Given the description of an element on the screen output the (x, y) to click on. 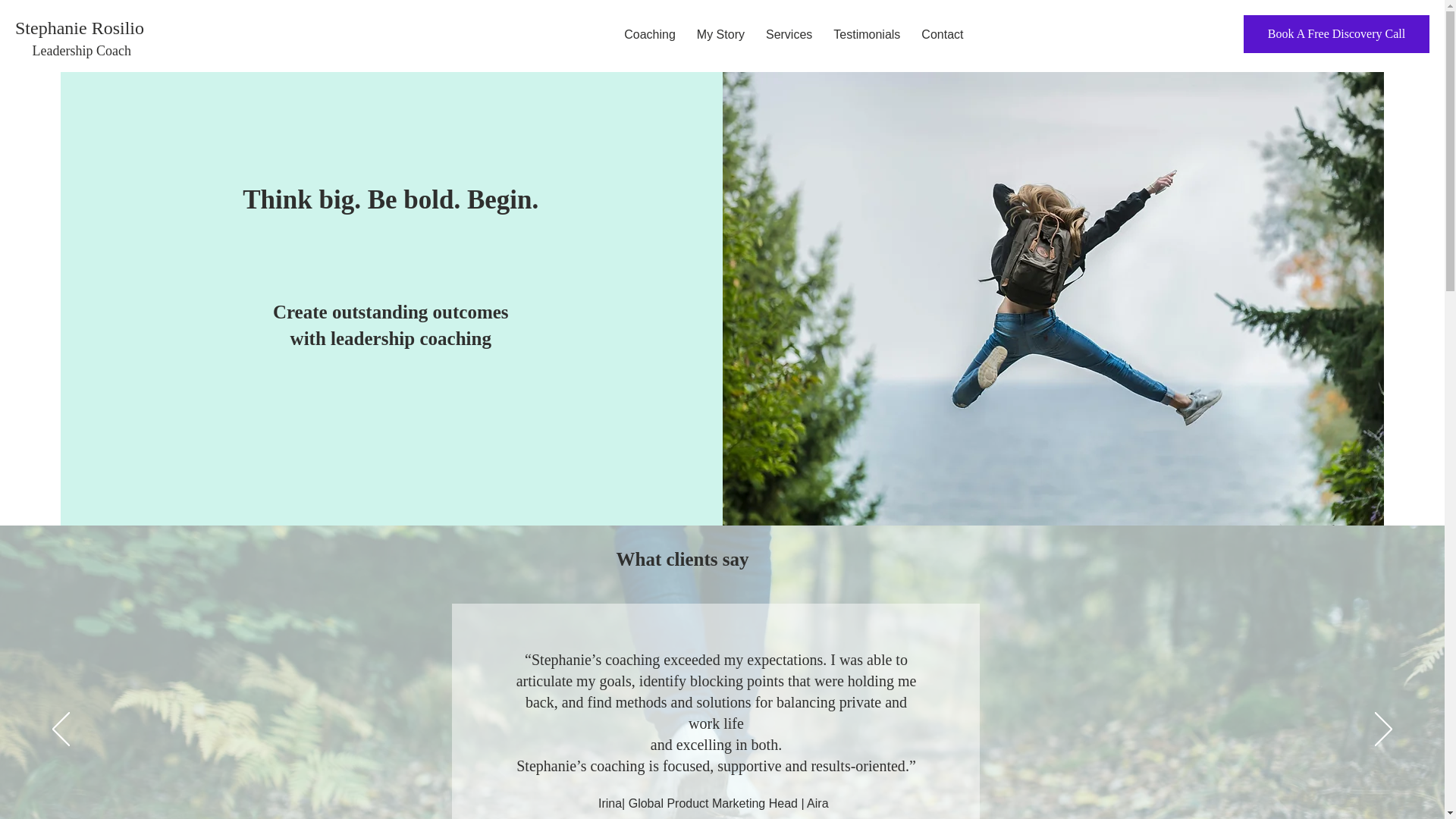
Stephanie Rosilio (79, 27)
Coaching (648, 34)
Contact (942, 34)
Services (788, 34)
Book A Free Discovery Call (1336, 34)
My Story (720, 34)
Testimonials (866, 34)
